Given the description of an element on the screen output the (x, y) to click on. 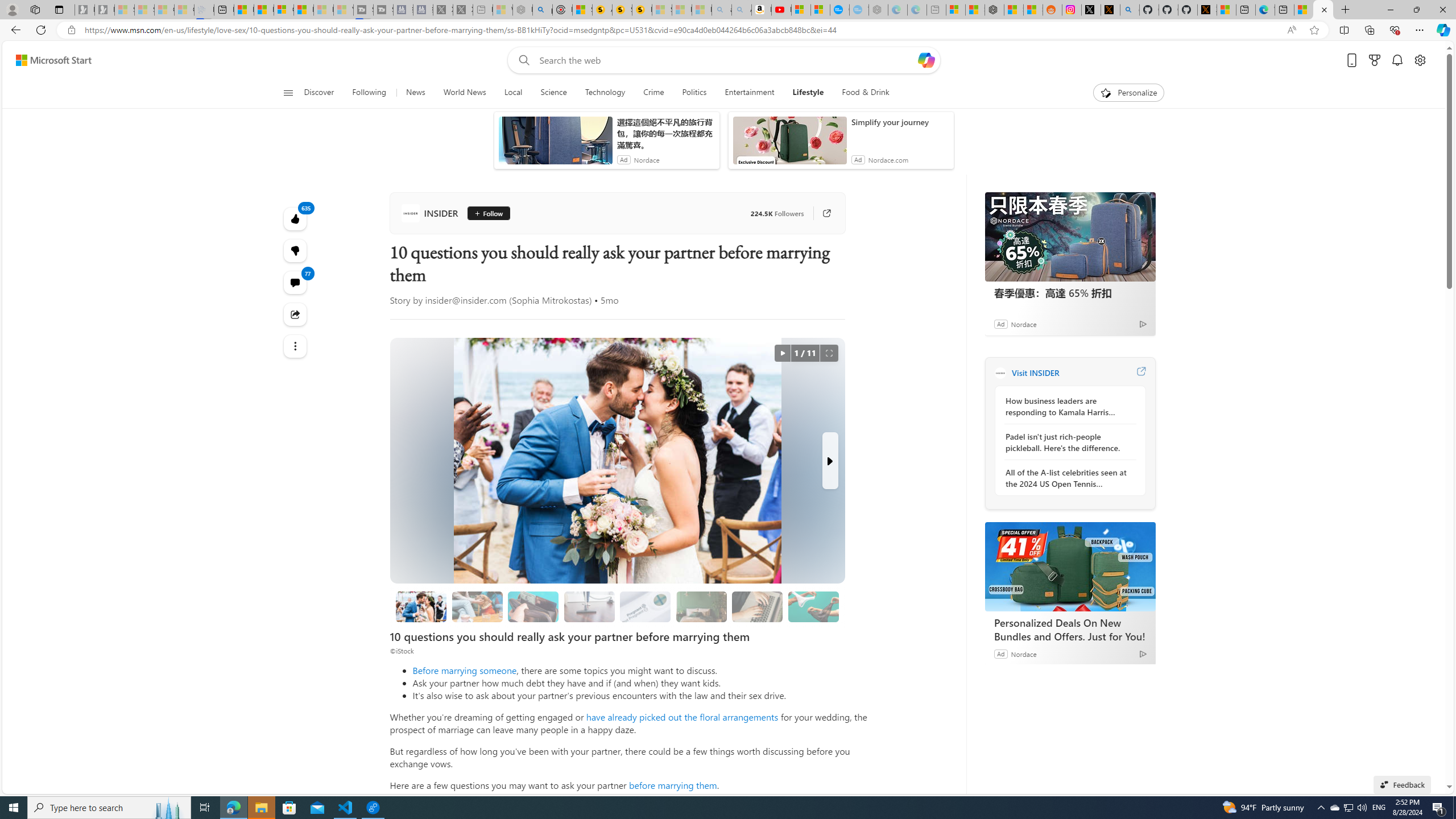
Local (512, 92)
Technology (604, 92)
INSIDER (431, 212)
Share this story (295, 314)
What kind of debt do you have? (533, 606)
Politics (694, 92)
What kind of debt do you have? (533, 606)
World News (464, 92)
